Given the description of an element on the screen output the (x, y) to click on. 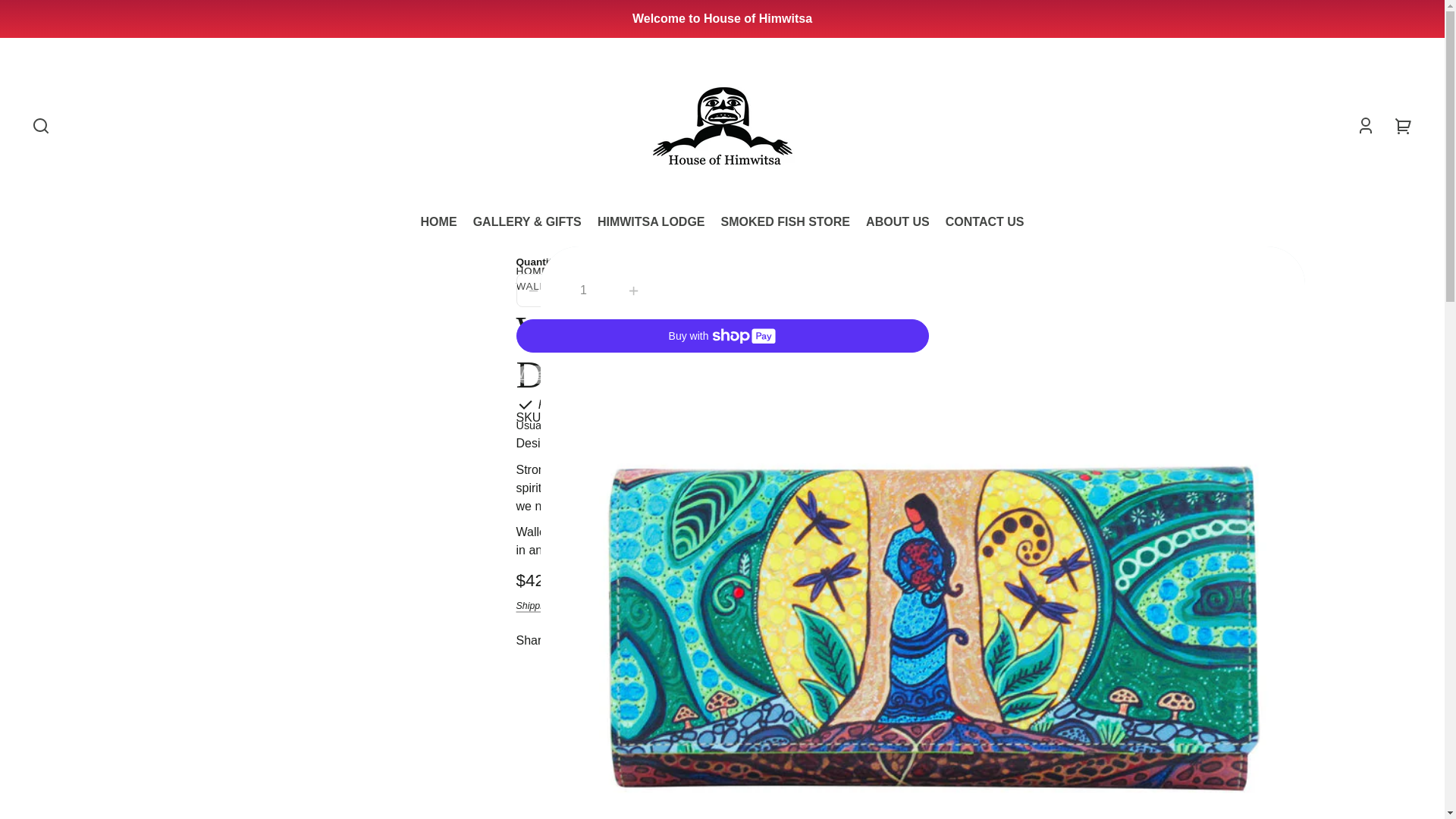
WALLET STRONG LEAH DORION EARTH WOMAN (646, 288)
Add to cart (793, 290)
CONTACT US (984, 222)
Log in (1365, 125)
SMOKED FISH STORE (785, 222)
Shipping (533, 605)
Your cart (1404, 125)
Decrease quantity for Wallet Strong Leah Dorion Earth Woman (533, 290)
ABOUT US (898, 222)
HOME (531, 273)
More payment options (721, 374)
Increase quantity for Wallet Strong Leah Dorion Earth Woman (632, 290)
View store information (698, 425)
Skip to product information (24, 262)
Skip to content (25, 16)
